Given the description of an element on the screen output the (x, y) to click on. 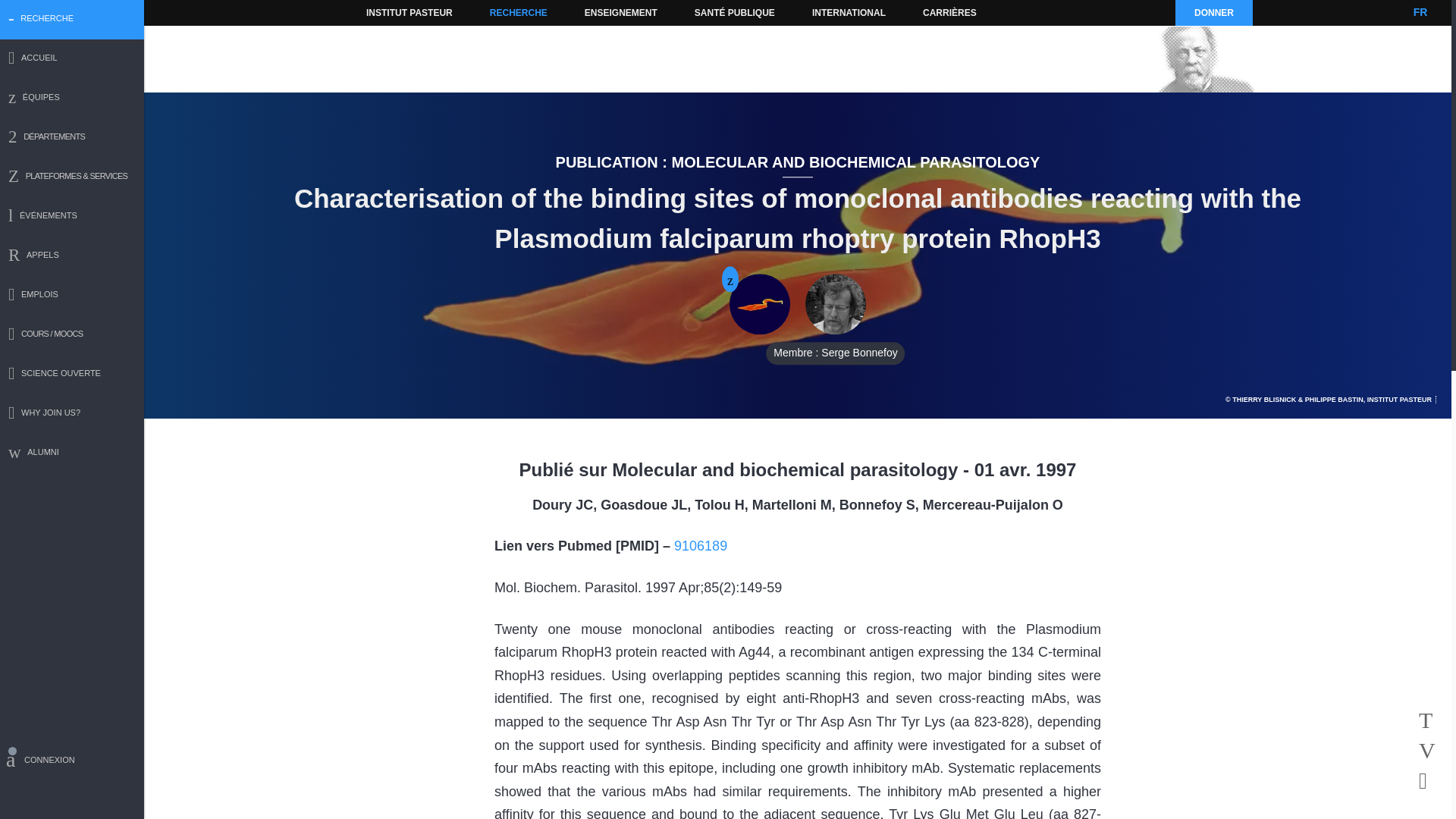
FR (1419, 11)
CONNEXION (72, 762)
Aller au contenu (391, 11)
DONNER (1213, 12)
Membre : Serge Bonnefoy (835, 304)
ACCUEIL (72, 59)
WHY JOIN US? (72, 413)
APPELS (72, 256)
ALUMNI (72, 454)
SCIENCE OUVERTE (72, 374)
9106189 (700, 545)
RECHERCHE (518, 12)
INSTITUT PASTEUR (409, 12)
INTERNATIONAL (848, 12)
EMPLOIS (72, 296)
